Given the description of an element on the screen output the (x, y) to click on. 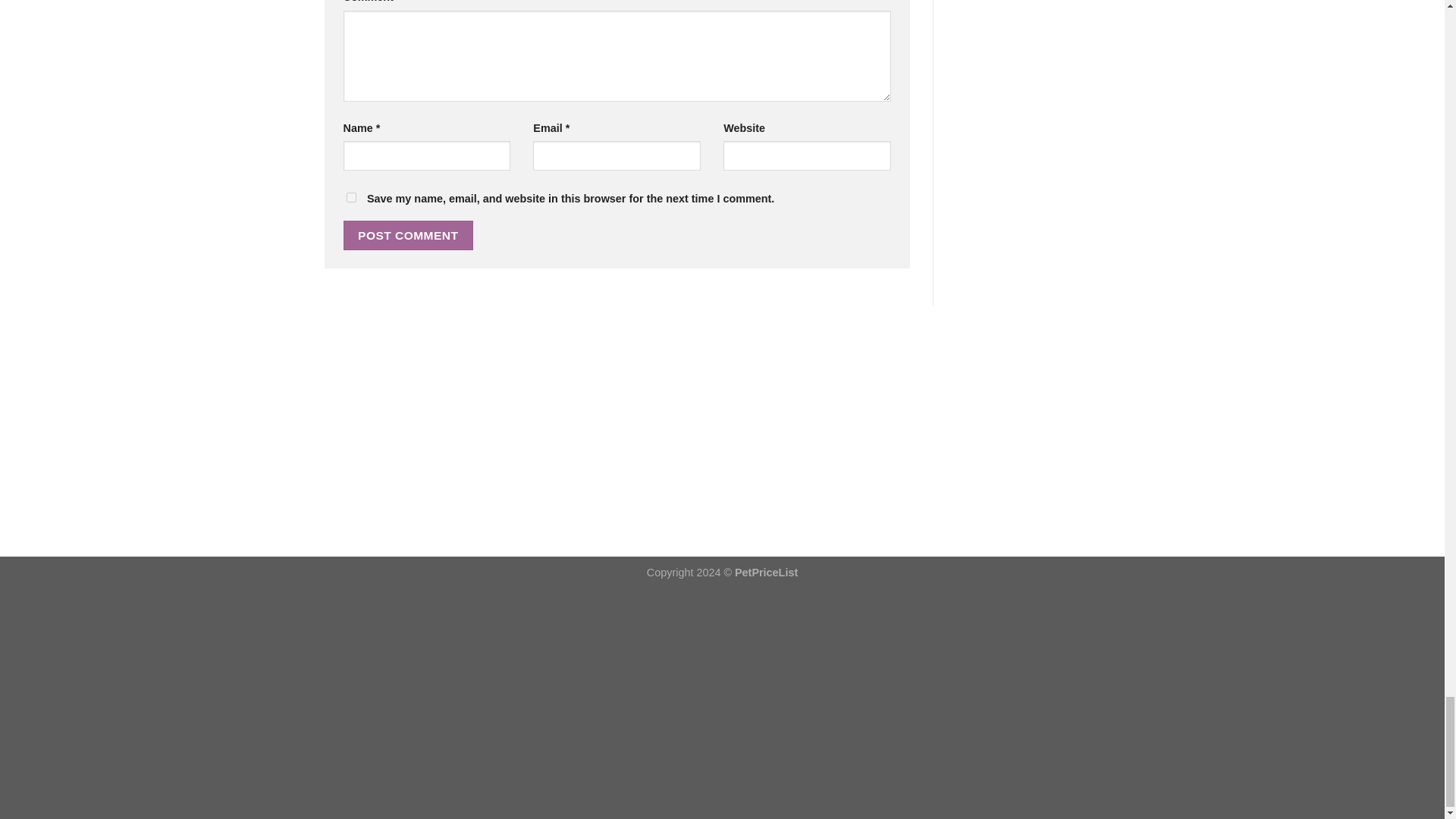
yes (350, 197)
Post Comment (407, 235)
